Given the description of an element on the screen output the (x, y) to click on. 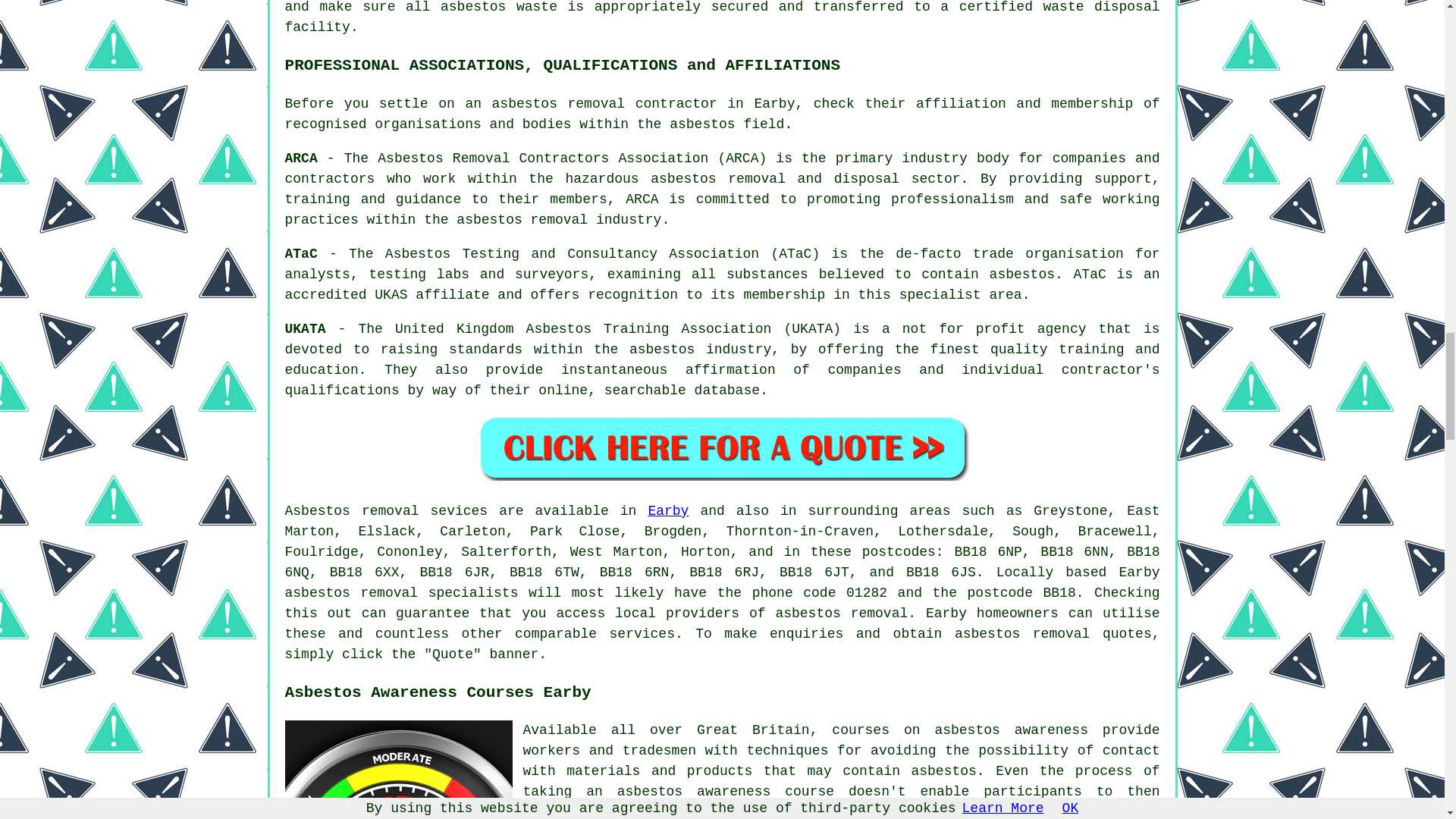
waste disposal (1101, 7)
